Given the description of an element on the screen output the (x, y) to click on. 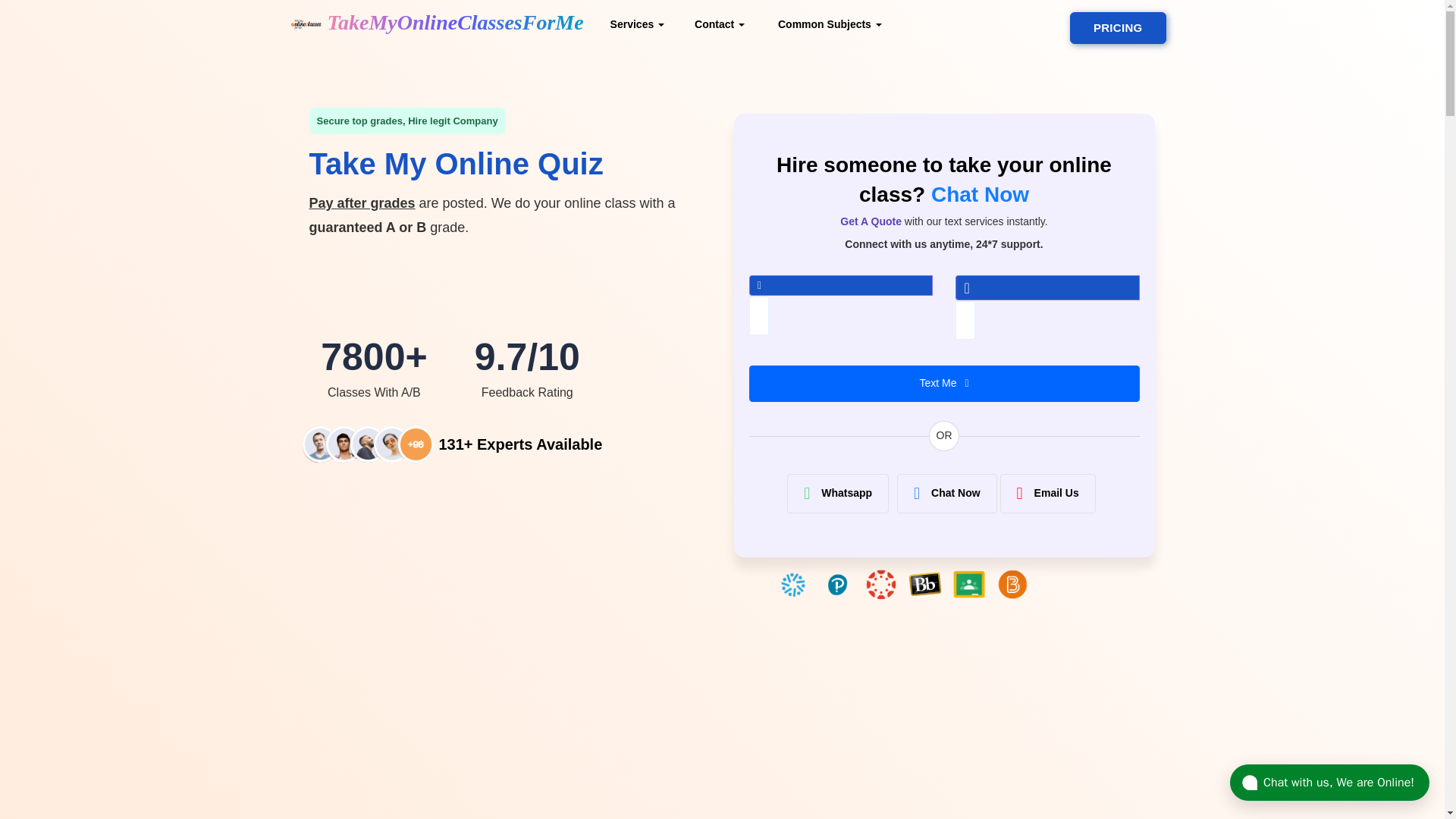
TakeMyOnlineClassesForMe (437, 22)
Text Me (944, 383)
Email Us (1048, 493)
Contact (719, 23)
Services (637, 23)
Chat Now (946, 493)
Open chat window (1329, 782)
PRICING (1118, 28)
Whatsapp (837, 493)
Common Subjects (828, 23)
